Given the description of an element on the screen output the (x, y) to click on. 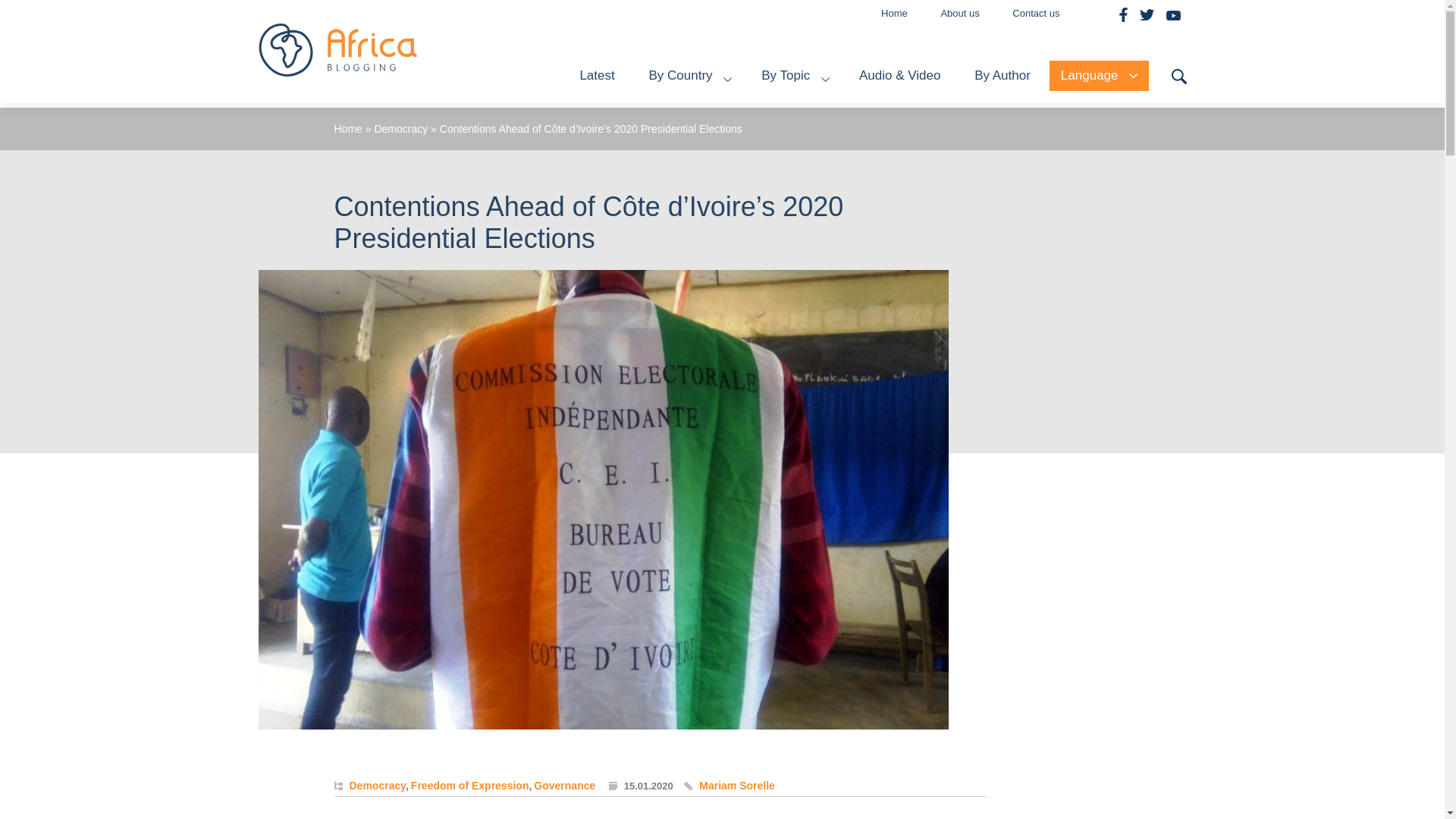
39 (668, 204)
Home (894, 13)
1334 (837, 148)
1324 (640, 261)
1379 (637, 345)
1326 (849, 233)
1328 (434, 289)
By Country (679, 76)
42 (660, 233)
43 (635, 289)
1333 (842, 261)
1409 (836, 317)
20 (848, 176)
About us (959, 13)
41 (436, 233)
